Given the description of an element on the screen output the (x, y) to click on. 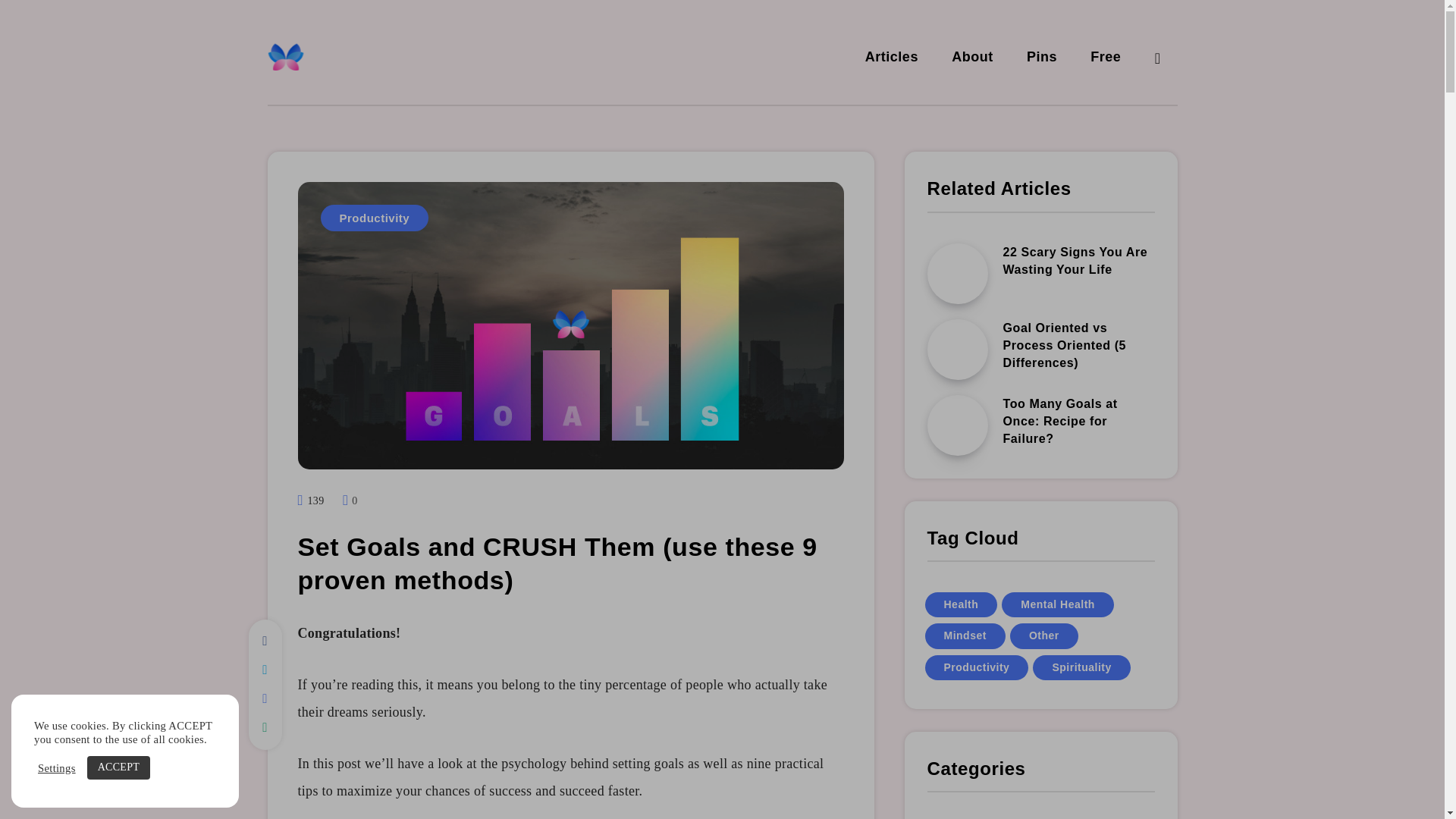
Articles (891, 58)
Free (1105, 58)
Productivity (374, 217)
Go to comments (349, 500)
22 Scary Signs You Are Wasting Your Life (1075, 262)
0 (349, 500)
Pins (1041, 58)
About (972, 58)
Views (311, 500)
